Given the description of an element on the screen output the (x, y) to click on. 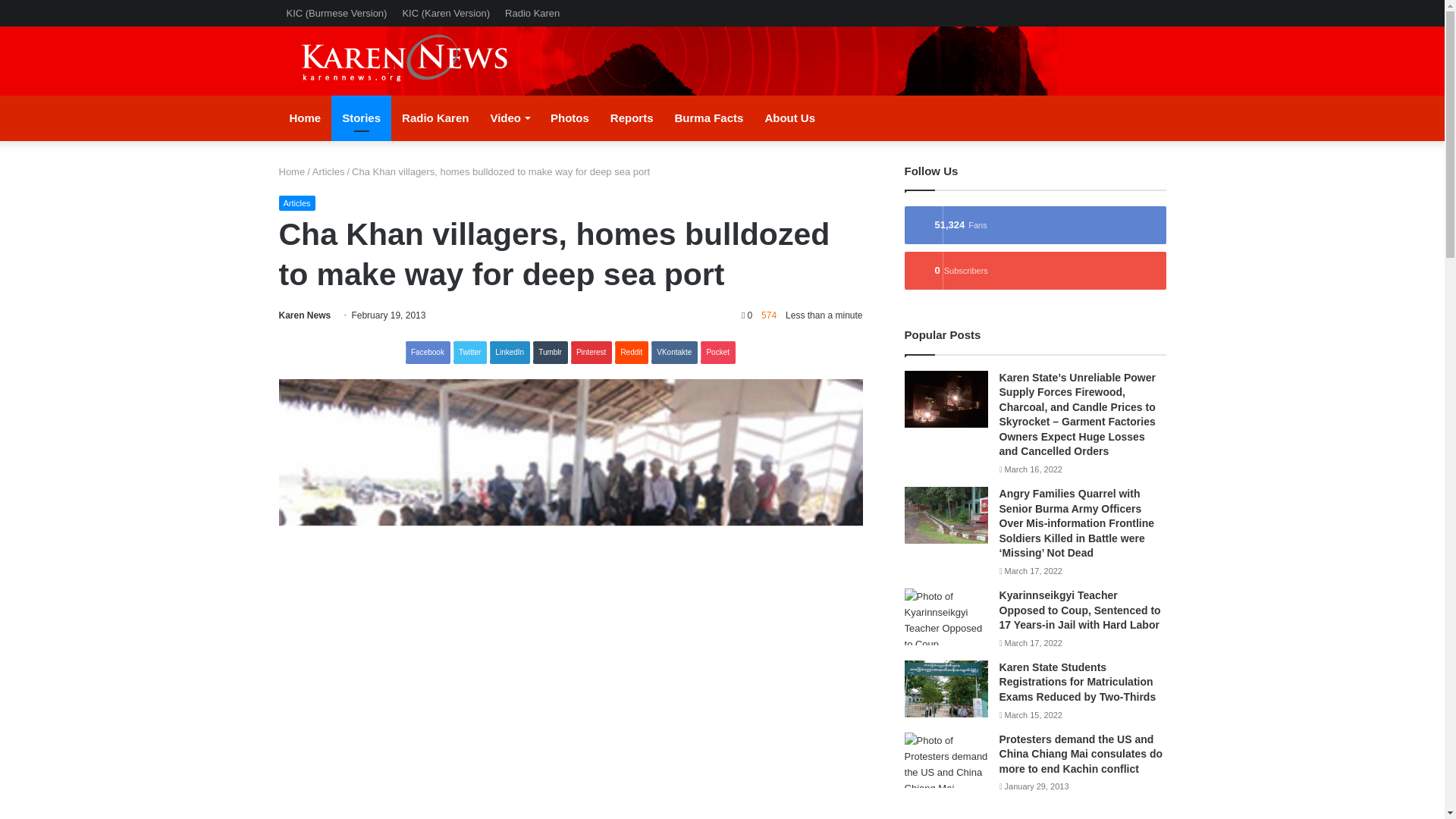
Pocket (717, 352)
Burma Facts (708, 117)
Home (292, 171)
VKontakte (673, 352)
Home (305, 117)
About Us (789, 117)
Reddit (630, 352)
Reports (631, 117)
Twitter (469, 352)
LinkedIn (509, 352)
Photos (569, 117)
Video (509, 117)
Pinterest (590, 352)
Articles (329, 171)
Stories (361, 117)
